Given the description of an element on the screen output the (x, y) to click on. 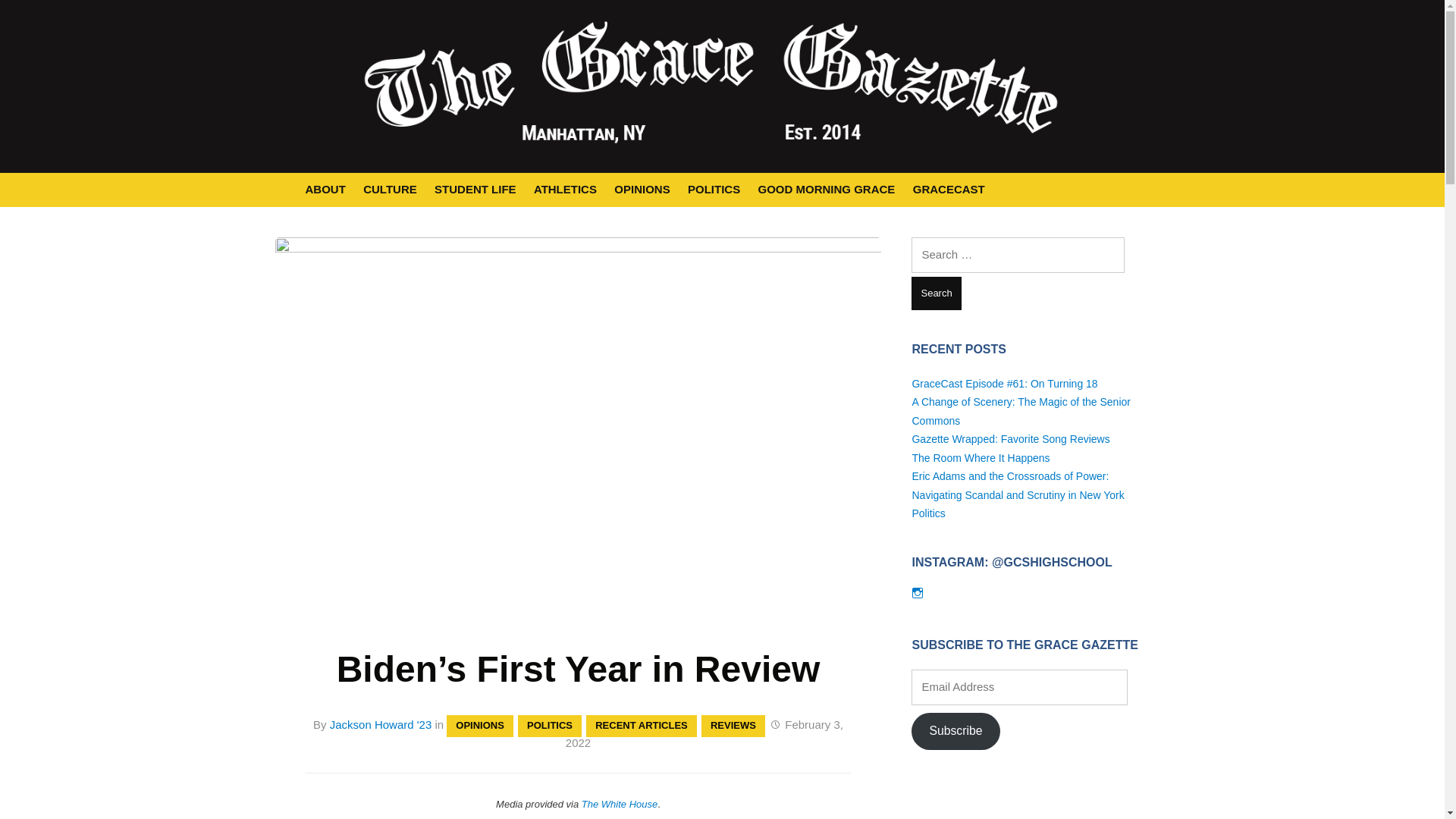
Jackson Howard '23 (381, 724)
GOOD MORNING GRACE (826, 189)
Search (935, 293)
The White House (619, 803)
RECENT ARTICLES (641, 725)
OPINIONS (641, 189)
CULTURE (389, 189)
POLITICS (549, 725)
REVIEWS (733, 725)
Posts by Jackson Howard '23 (381, 724)
